Given the description of an element on the screen output the (x, y) to click on. 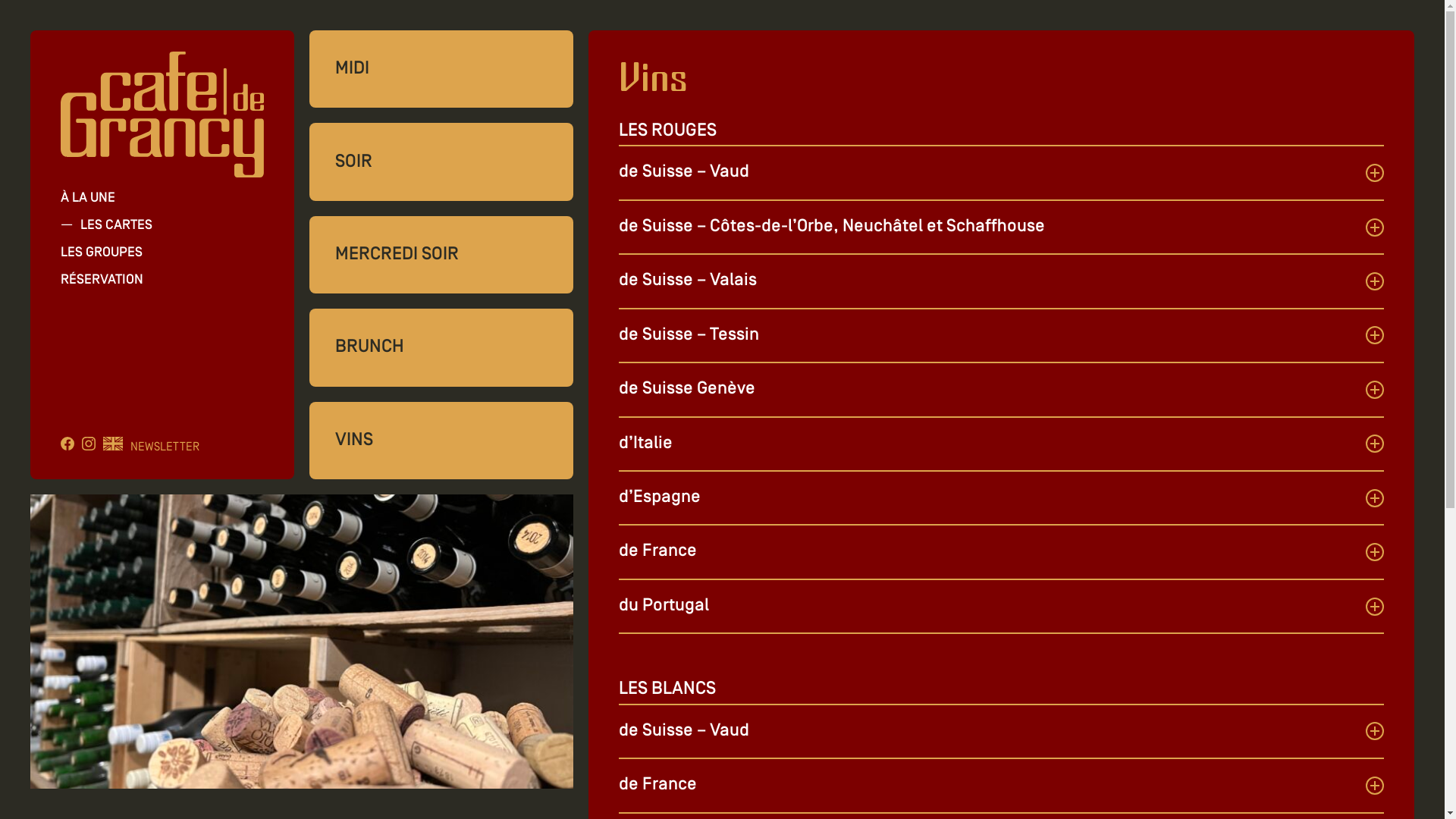
LES GROUPES Element type: text (101, 252)
MERCREDI SOIR Element type: text (441, 254)
MIDI Element type: text (441, 68)
SOIR Element type: text (441, 161)
NEWSLETTER Element type: text (164, 447)
BRUNCH Element type: text (441, 346)
LES CARTES Element type: text (116, 225)
VINS Element type: text (441, 440)
